Given the description of an element on the screen output the (x, y) to click on. 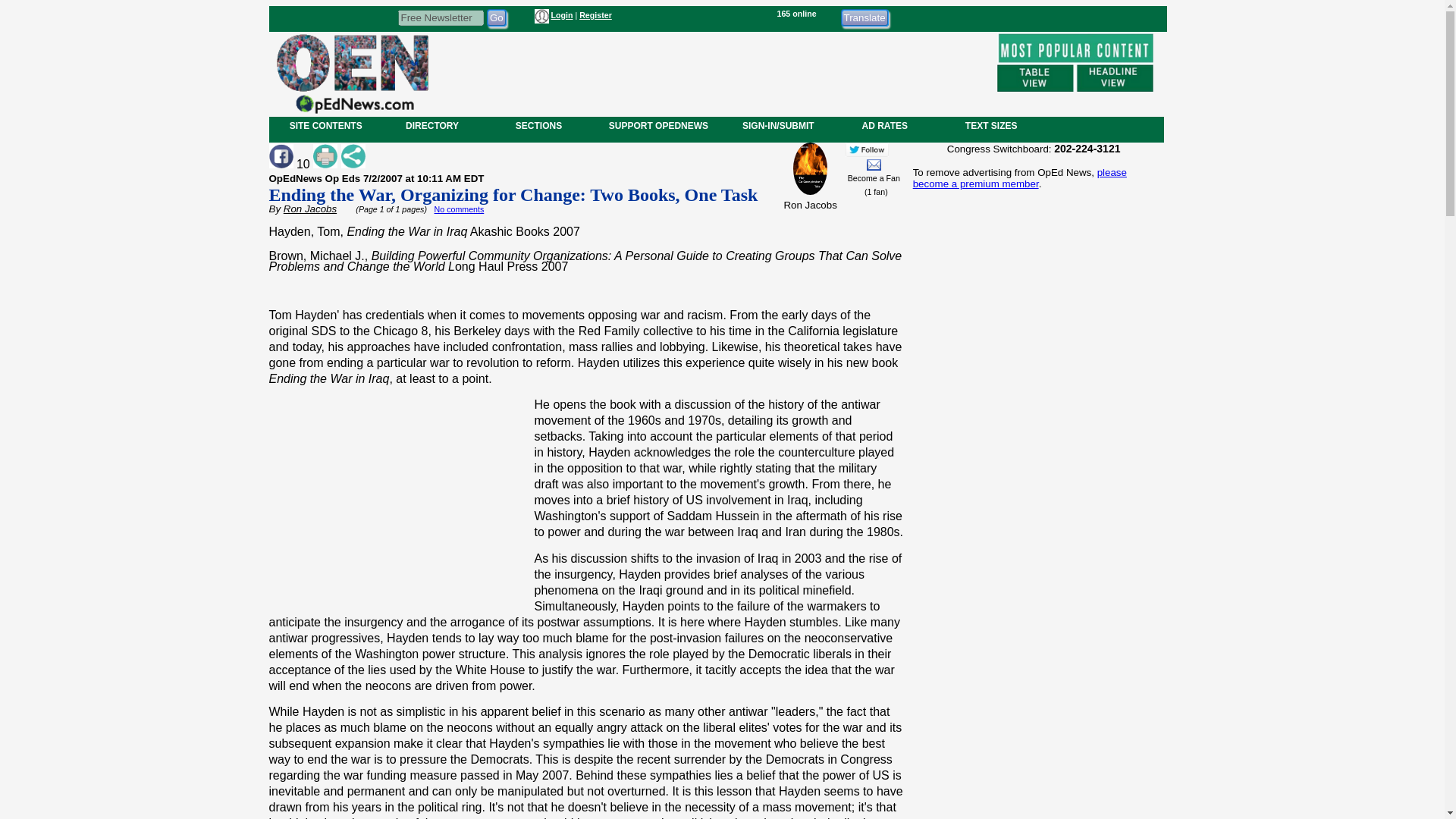
Follow Me on Twitter (866, 149)
Advertisement (1032, 702)
Go (496, 17)
Login (561, 14)
DIRECTORY (431, 125)
SUPPORT OPEDNEWS (658, 125)
Ending the War, Organizing for Change: Two Books, One Task (512, 194)
Printer Friendly Page (325, 156)
Become a Fan (873, 177)
Translate (864, 17)
